Given the description of an element on the screen output the (x, y) to click on. 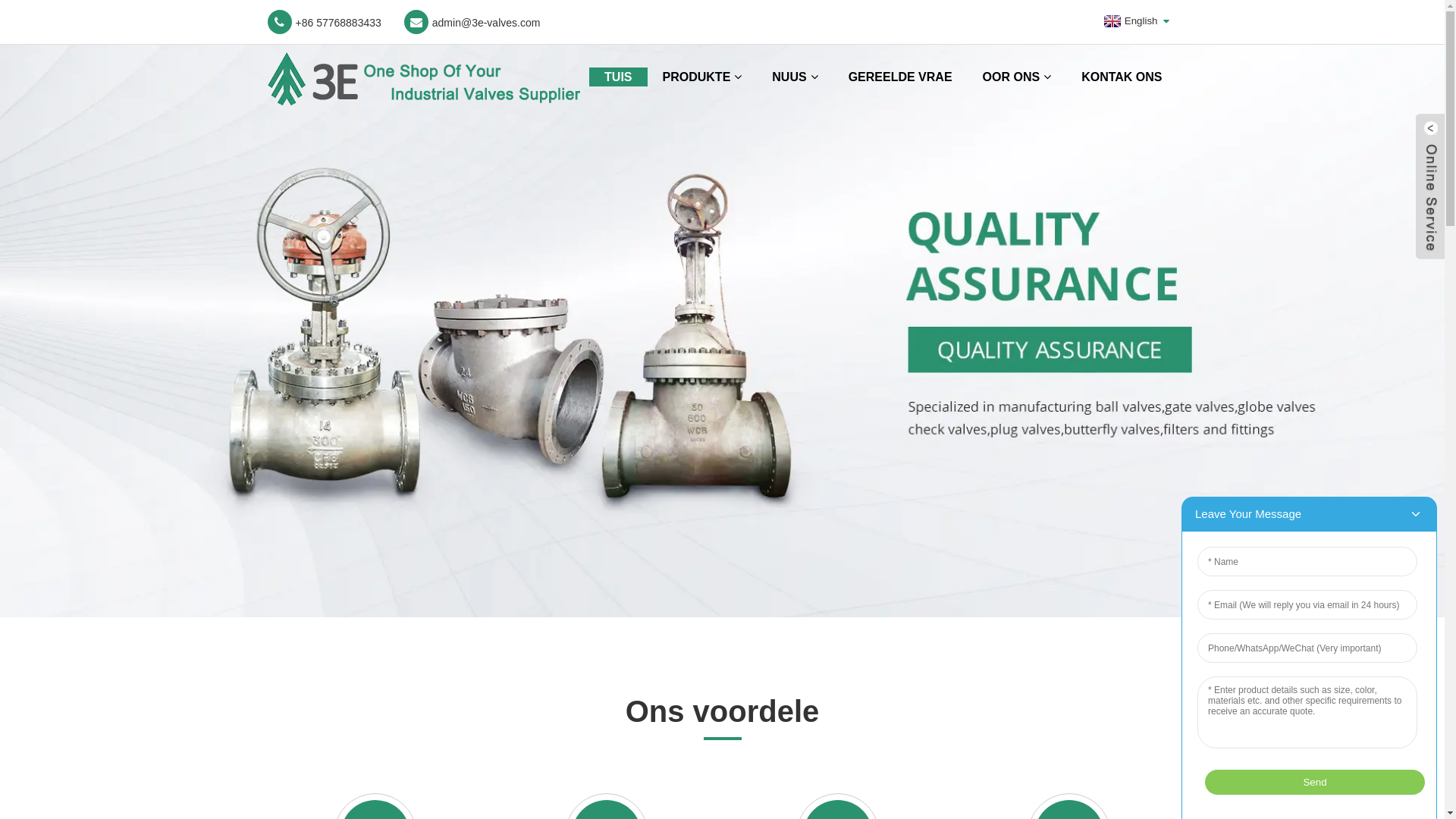
English Element type: text (1128, 21)
PRODUKTE Element type: text (702, 76)
OOR ONS Element type: text (1016, 76)
admin@3e-valves.com Element type: text (472, 21)
KONTAK ONS Element type: text (1121, 76)
TUIS Element type: text (617, 76)
GEREELDE VRAE Element type: text (900, 76)
NUUS Element type: text (794, 76)
